Given the description of an element on the screen output the (x, y) to click on. 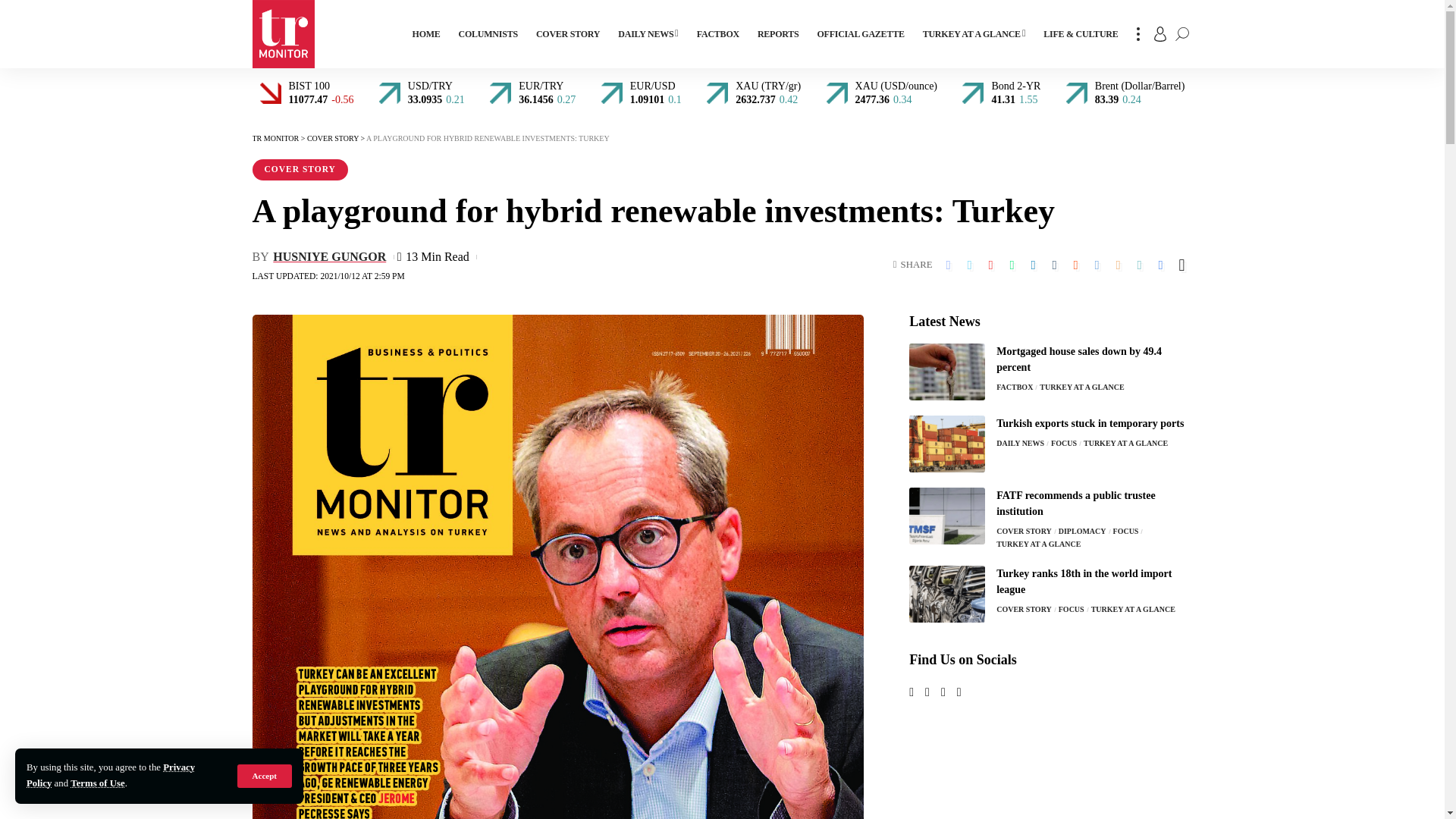
FATF recommends a public trustee institution (946, 515)
Terms of Use (96, 783)
Accept (264, 775)
OFFICIAL GAZETTE (860, 33)
TR MONITOR (282, 33)
COVER STORY (567, 33)
Mortgaged house sales down by 49.4 percent (946, 371)
HOME (426, 33)
REPORTS (778, 33)
Privacy Policy (110, 774)
Turkish exports stuck in temporary ports (946, 443)
DAILY NEWS (647, 33)
COLUMNISTS (488, 33)
TURKEY AT A GLANCE (974, 33)
Go to the Cover Story Category archives. (332, 138)
